Given the description of an element on the screen output the (x, y) to click on. 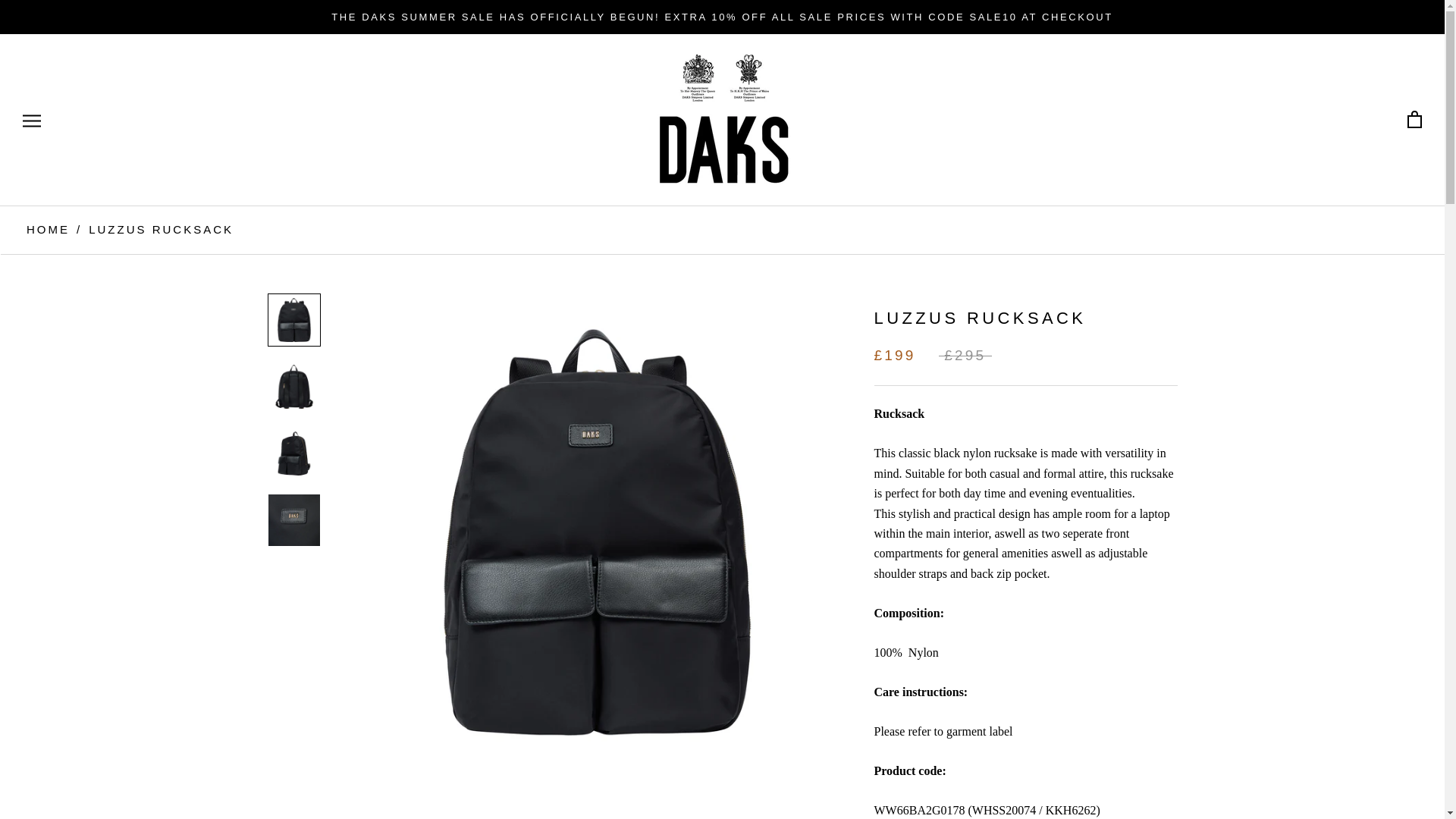
Home (47, 228)
HOME (47, 228)
